Given the description of an element on the screen output the (x, y) to click on. 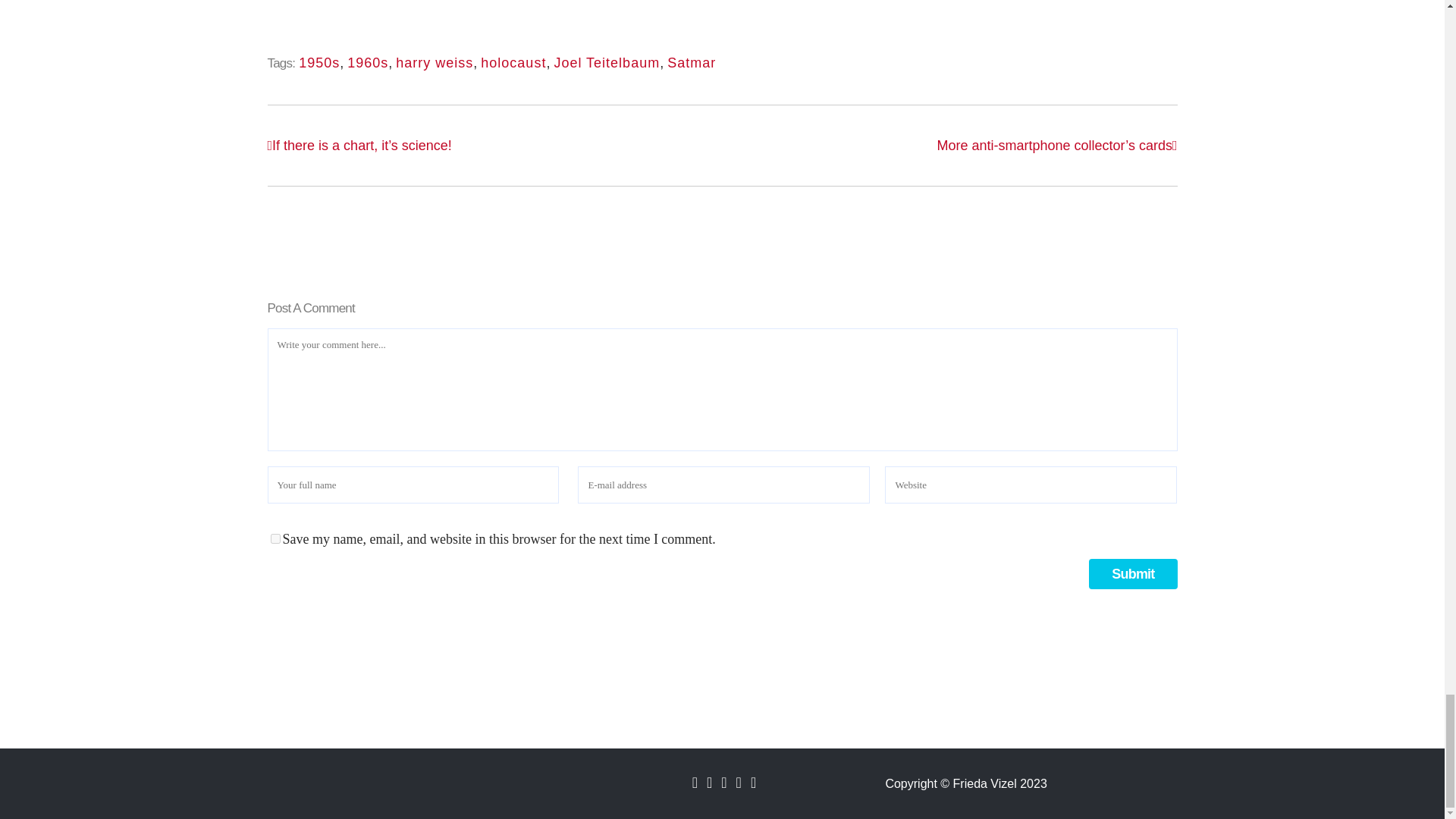
1950s (318, 62)
Submit (1132, 573)
yes (274, 538)
